Given the description of an element on the screen output the (x, y) to click on. 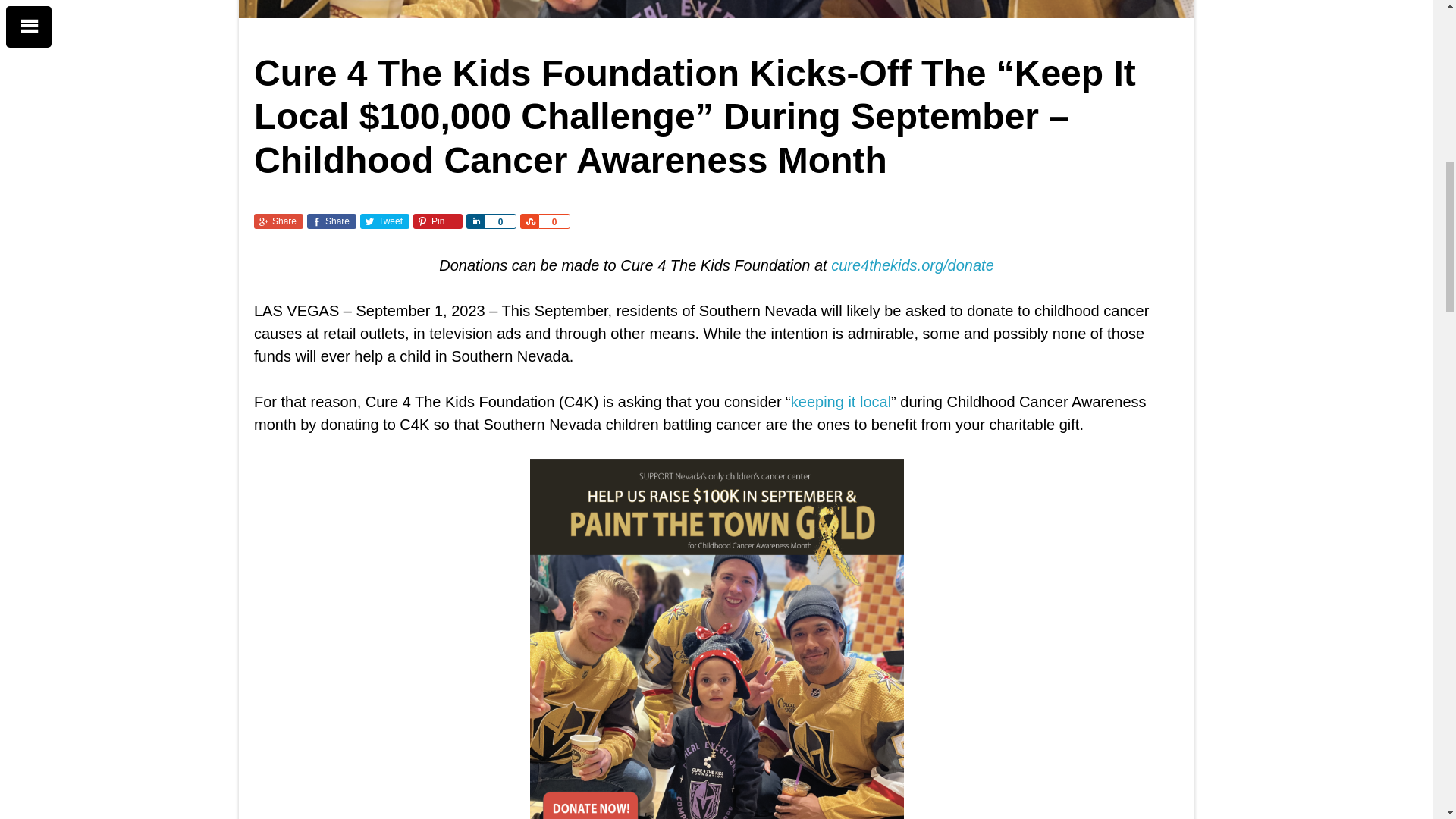
Share (528, 221)
keeping it local (840, 401)
Pin (438, 221)
Share (277, 221)
Share (331, 221)
Tweet (384, 221)
Share (474, 221)
0 (554, 221)
0 (500, 221)
